Given the description of an element on the screen output the (x, y) to click on. 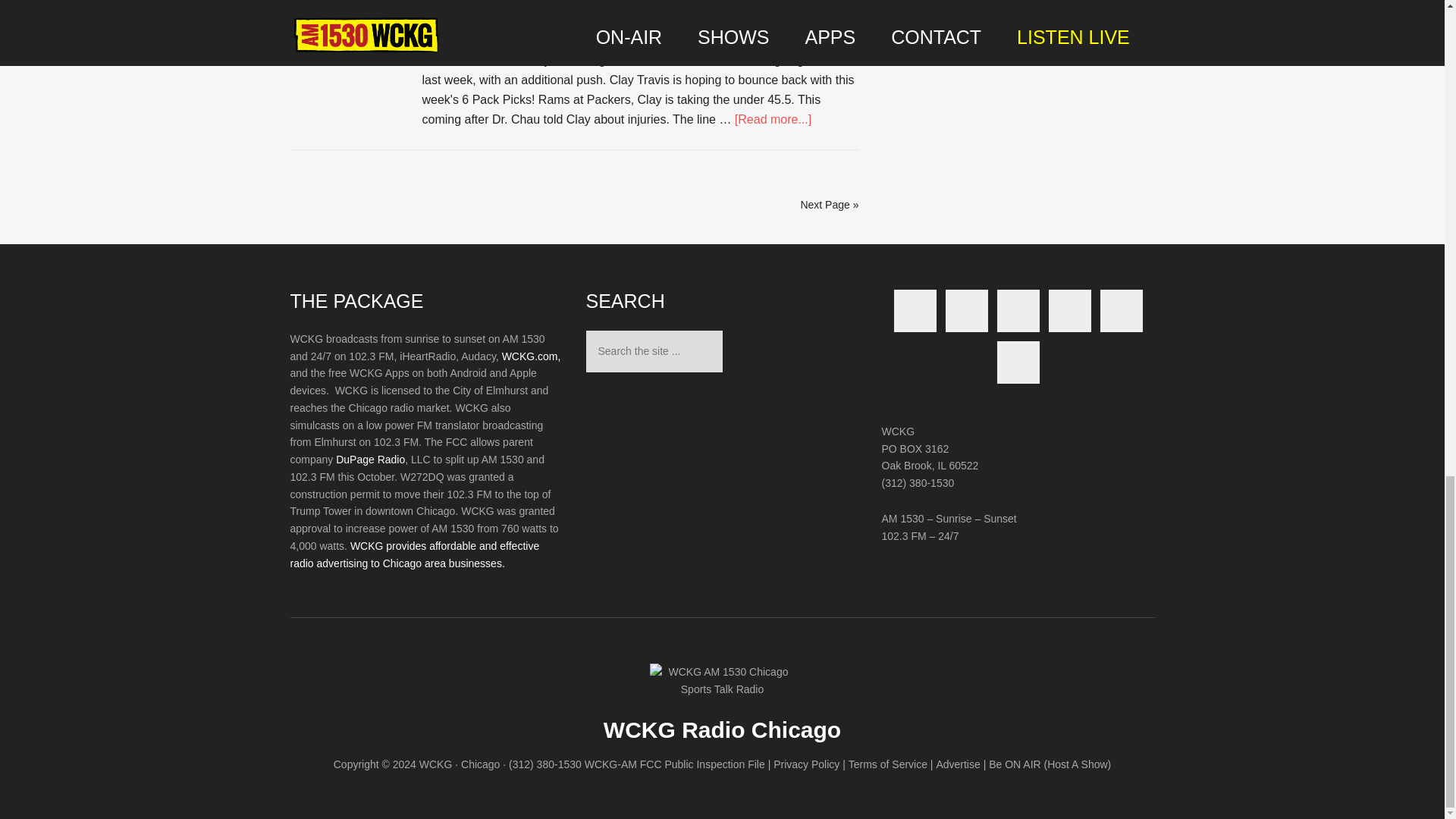
Page 1 (425, 451)
